Given the description of an element on the screen output the (x, y) to click on. 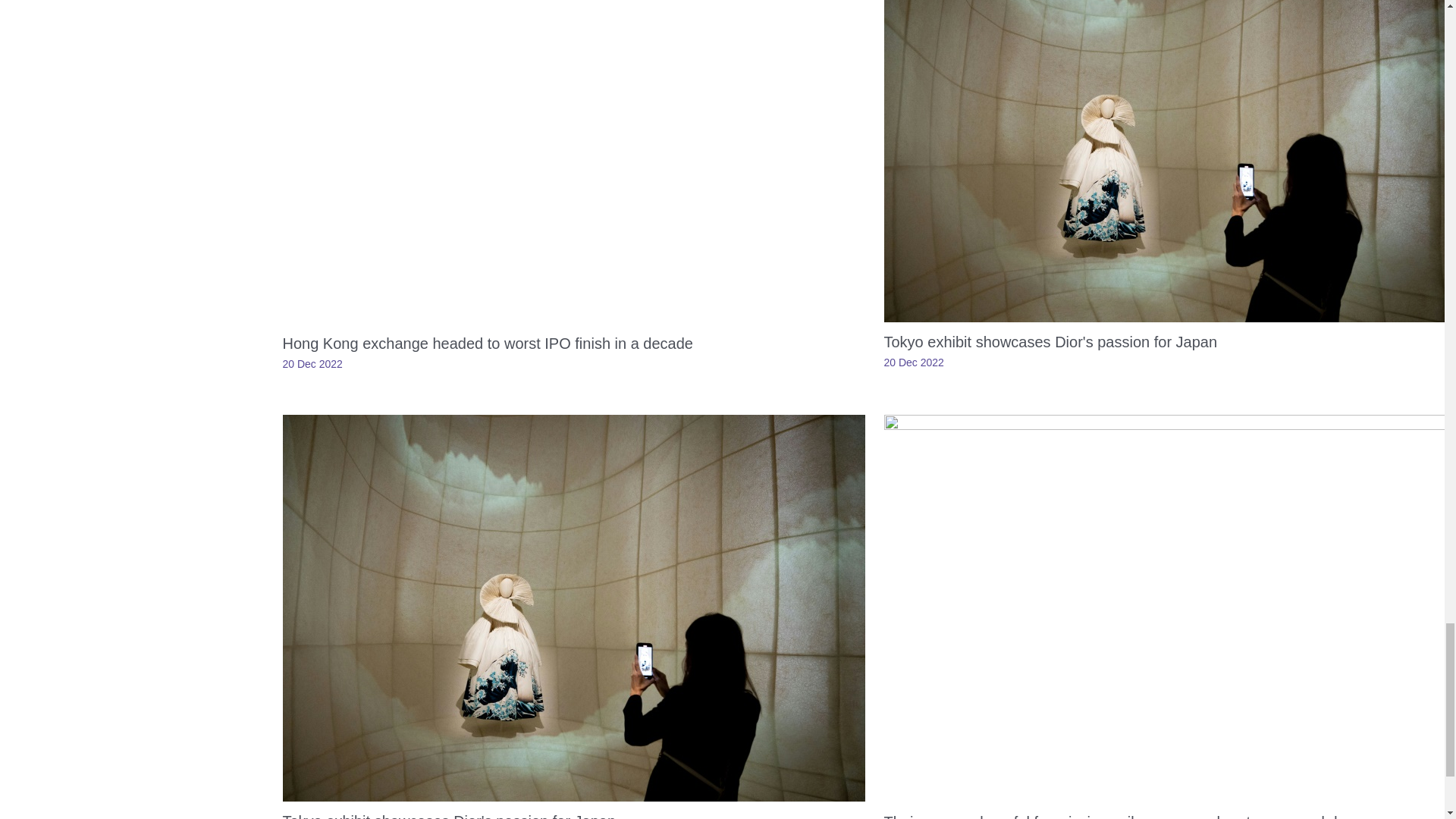
Tokyo exhibit showcases Dior's passion for Japan (1050, 341)
Tokyo exhibit showcases Dior's passion for Japan (448, 816)
Hong Kong exchange headed to worst IPO finish in a decade (487, 343)
